Given the description of an element on the screen output the (x, y) to click on. 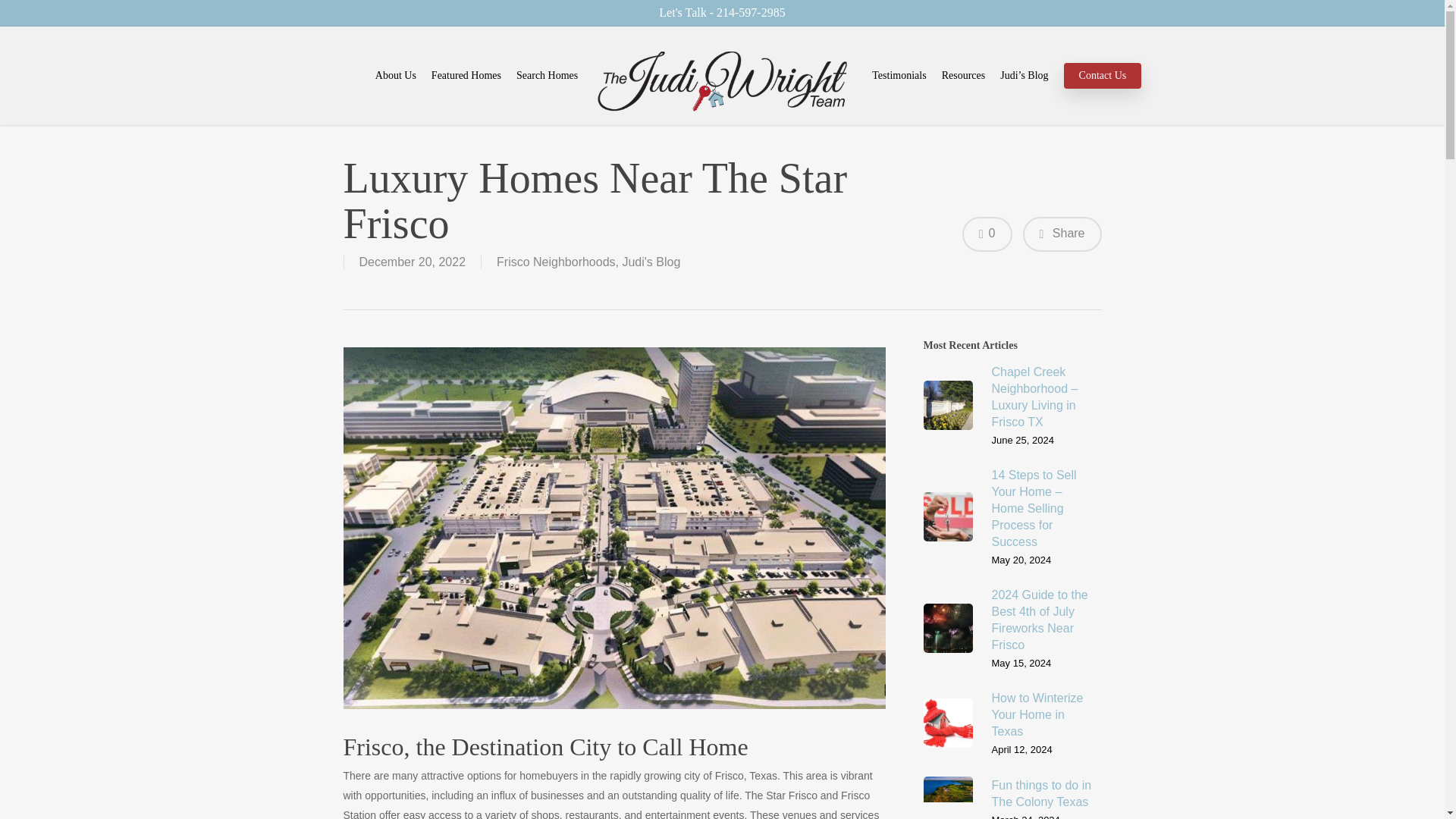
Love this (986, 234)
0 (986, 234)
Search Homes (547, 75)
Judi's Blog (650, 261)
Contact Us (1102, 75)
Frisco Neighborhoods (555, 261)
Resources (963, 75)
About Us (395, 75)
Featured Homes (465, 75)
Testimonials (899, 75)
Let's Talk - 214-597-2985 (721, 11)
